Given the description of an element on the screen output the (x, y) to click on. 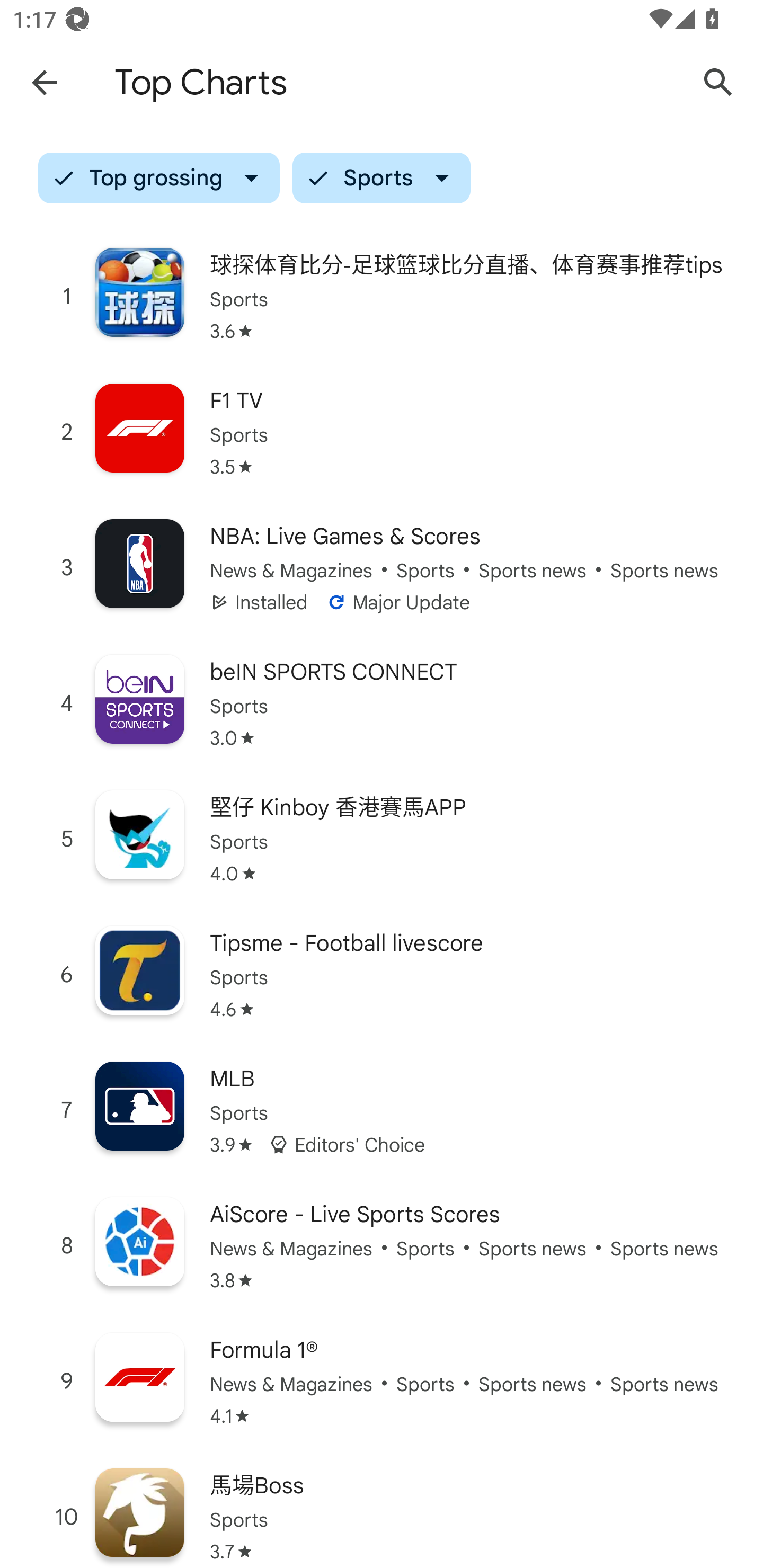
Navigate up (44, 81)
Search Google Play (718, 81)
2 F1 TV
Sports
Star rating: 3.5
 (381, 431)
4 beIN SPORTS CONNECT
Sports
Star rating: 3.0
 (381, 703)
5 堅仔 Kinboy 香港賽馬APP
Sports
Star rating: 4.0
 (381, 838)
7 MLB
Sports
Star rating: 3.9
Editors' Choice
 (381, 1109)
10 馬場Boss
Sports
Star rating: 3.7
 (381, 1508)
